Given the description of an element on the screen output the (x, y) to click on. 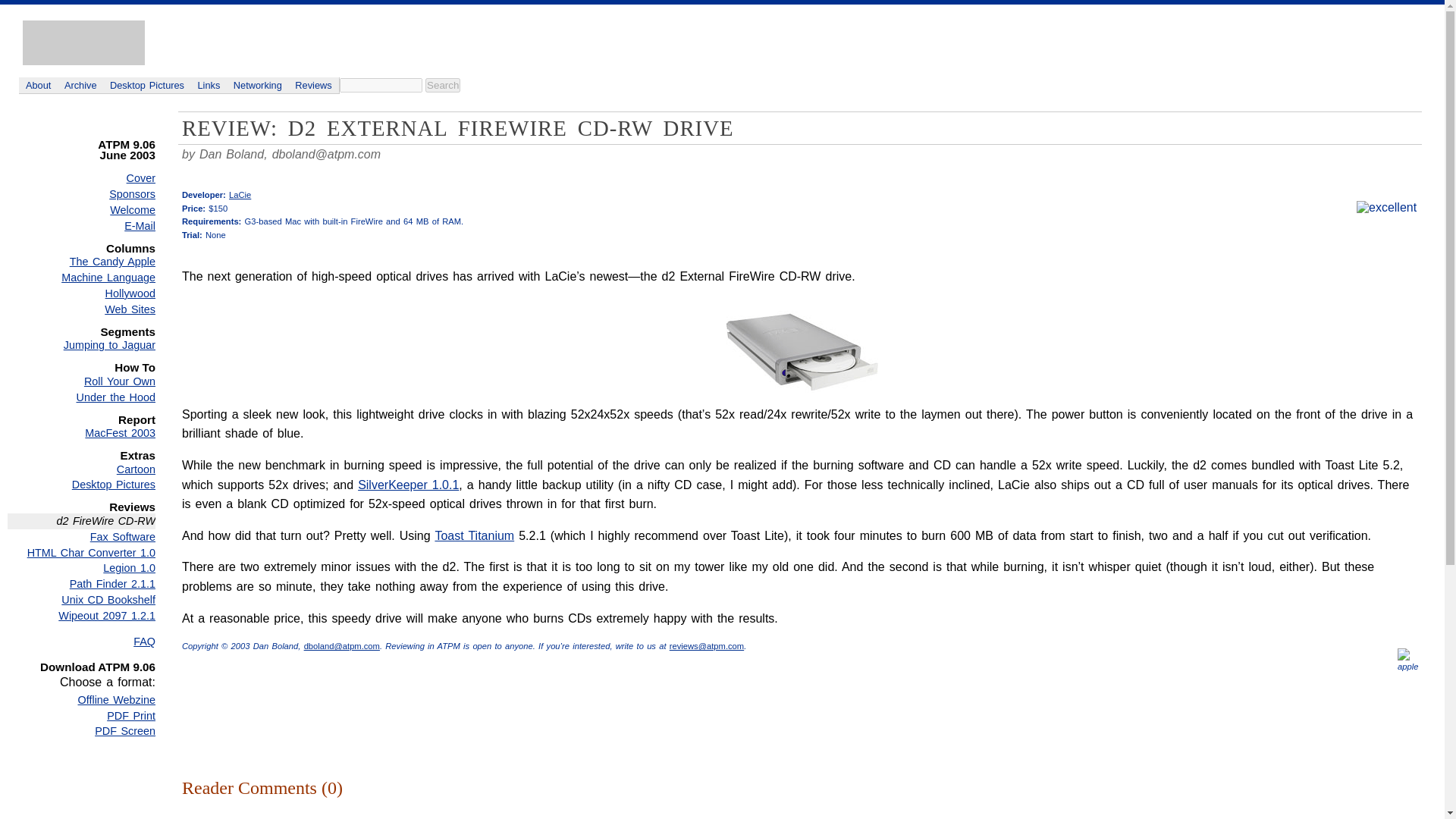
Wallpaper photos. (147, 84)
Desktop Pictures (147, 84)
PDF Screen (81, 731)
Path Finder 2.1.1 (81, 584)
Web Sites (81, 309)
Legion 1.0 (81, 568)
The Candy Apple (81, 261)
Machine Language (81, 277)
Reviews featured in ATPM organized by issue. (313, 84)
Under the Hood (81, 397)
